Given the description of an element on the screen output the (x, y) to click on. 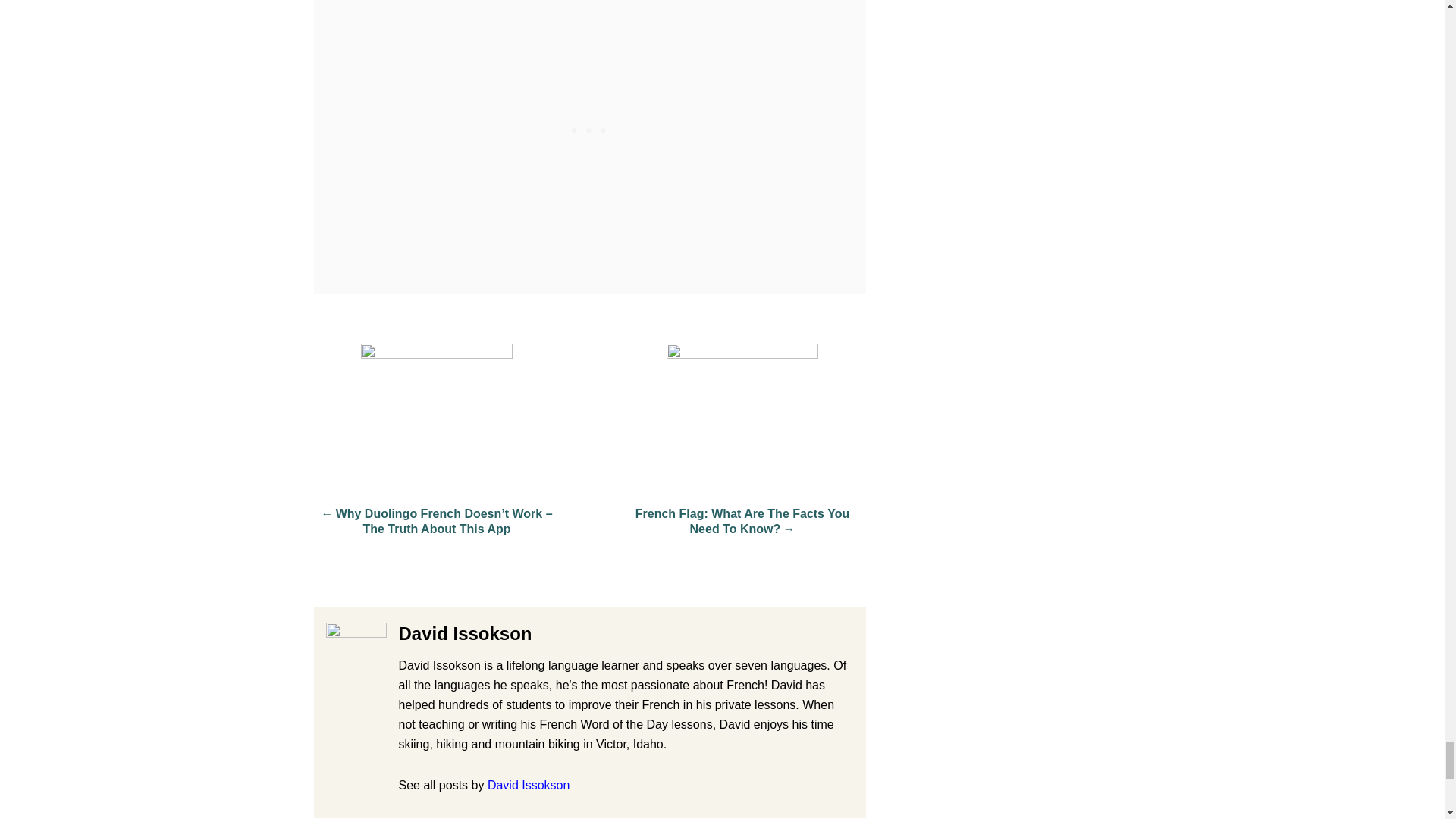
French Flag: What Are The Facts You Need To Know? (741, 529)
David Issokson (528, 784)
